Given the description of an element on the screen output the (x, y) to click on. 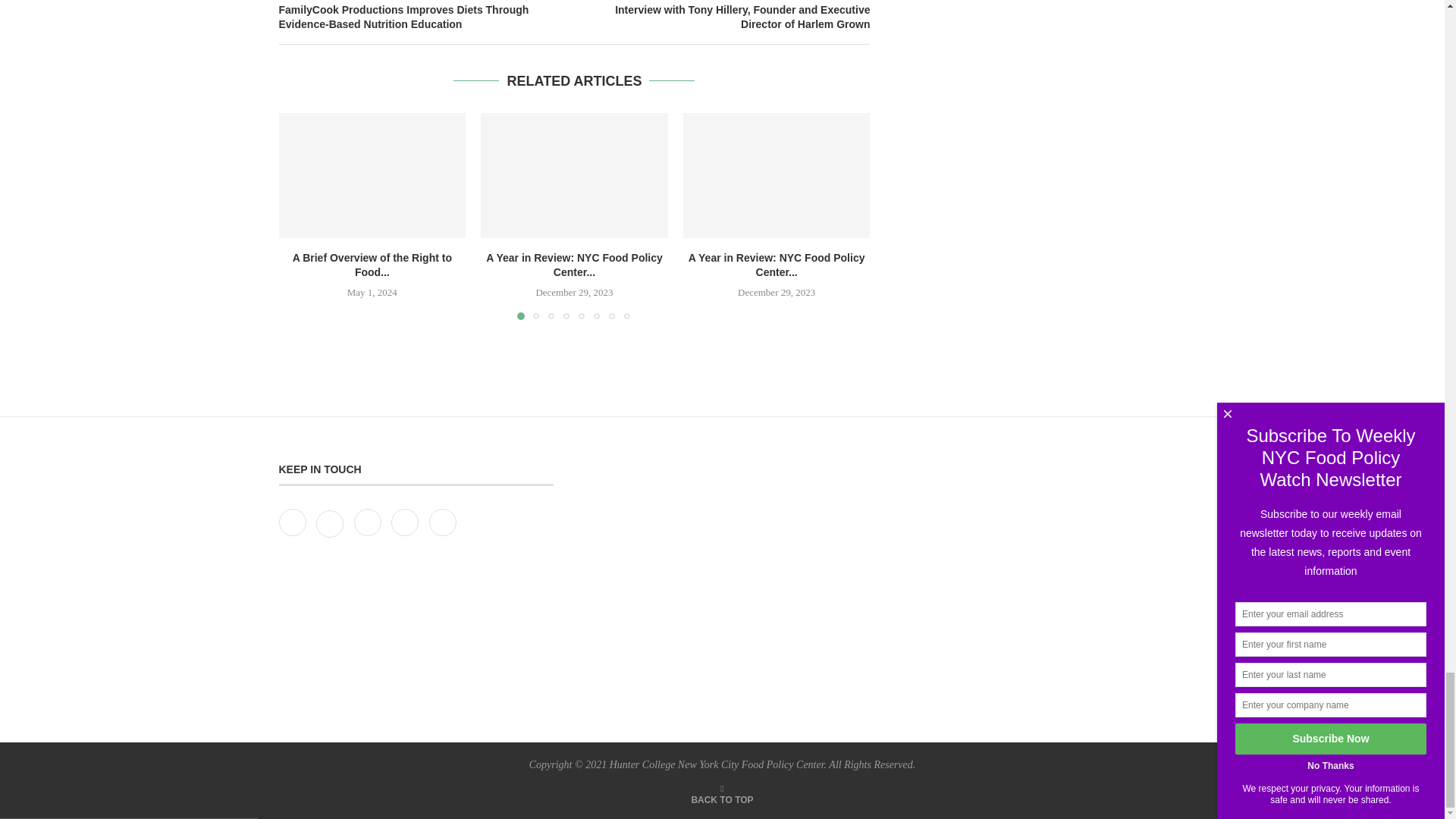
A Brief Overview of the Right to Food in the United States (372, 175)
